Given the description of an element on the screen output the (x, y) to click on. 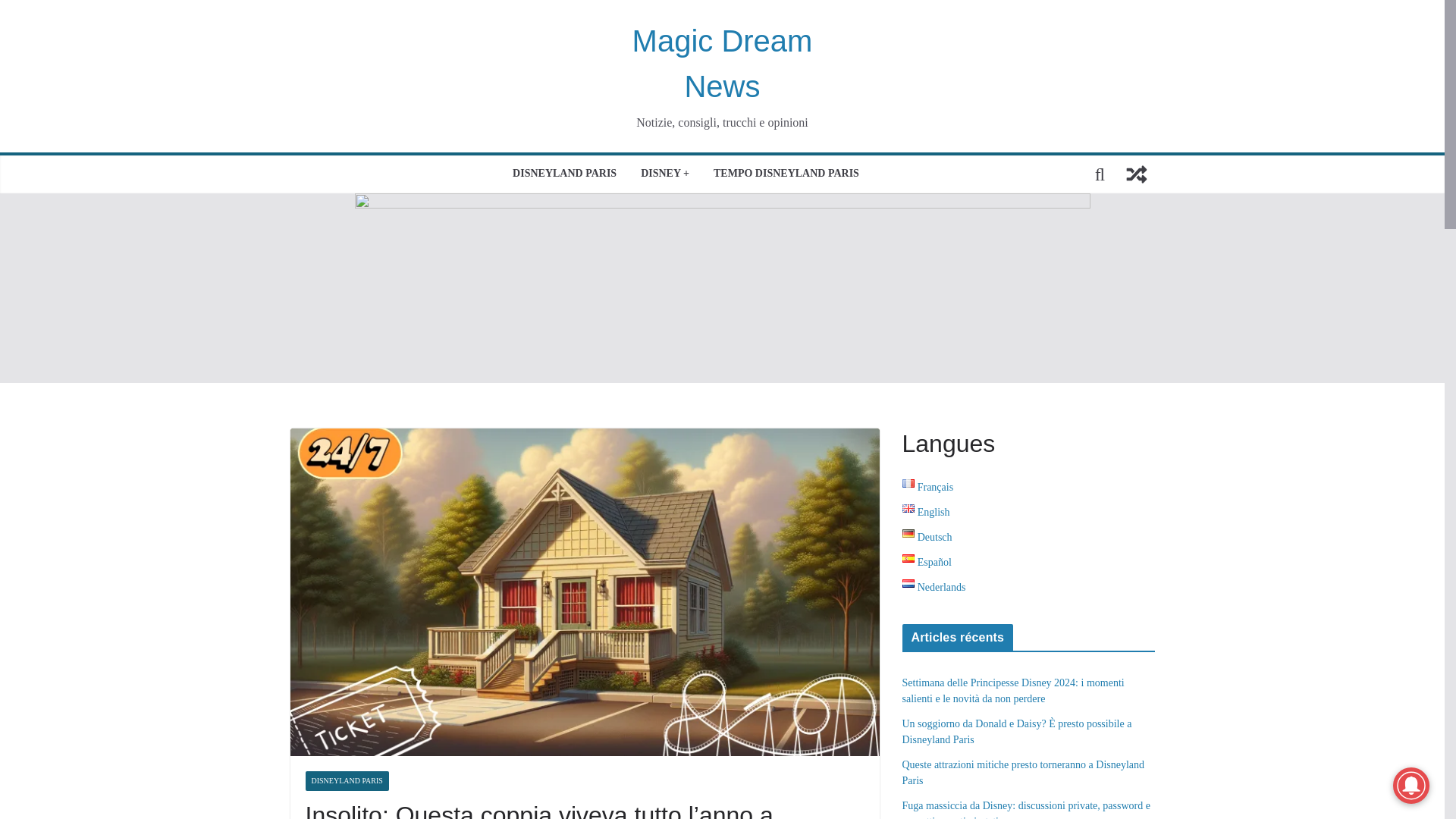
Magic Dream News (721, 63)
Magic Dream News (721, 63)
Leggi un articolo casuale (1136, 174)
DISNEYLAND PARIS (346, 781)
English (926, 511)
Deutsch (927, 536)
Nederlands (934, 586)
